Given the description of an element on the screen output the (x, y) to click on. 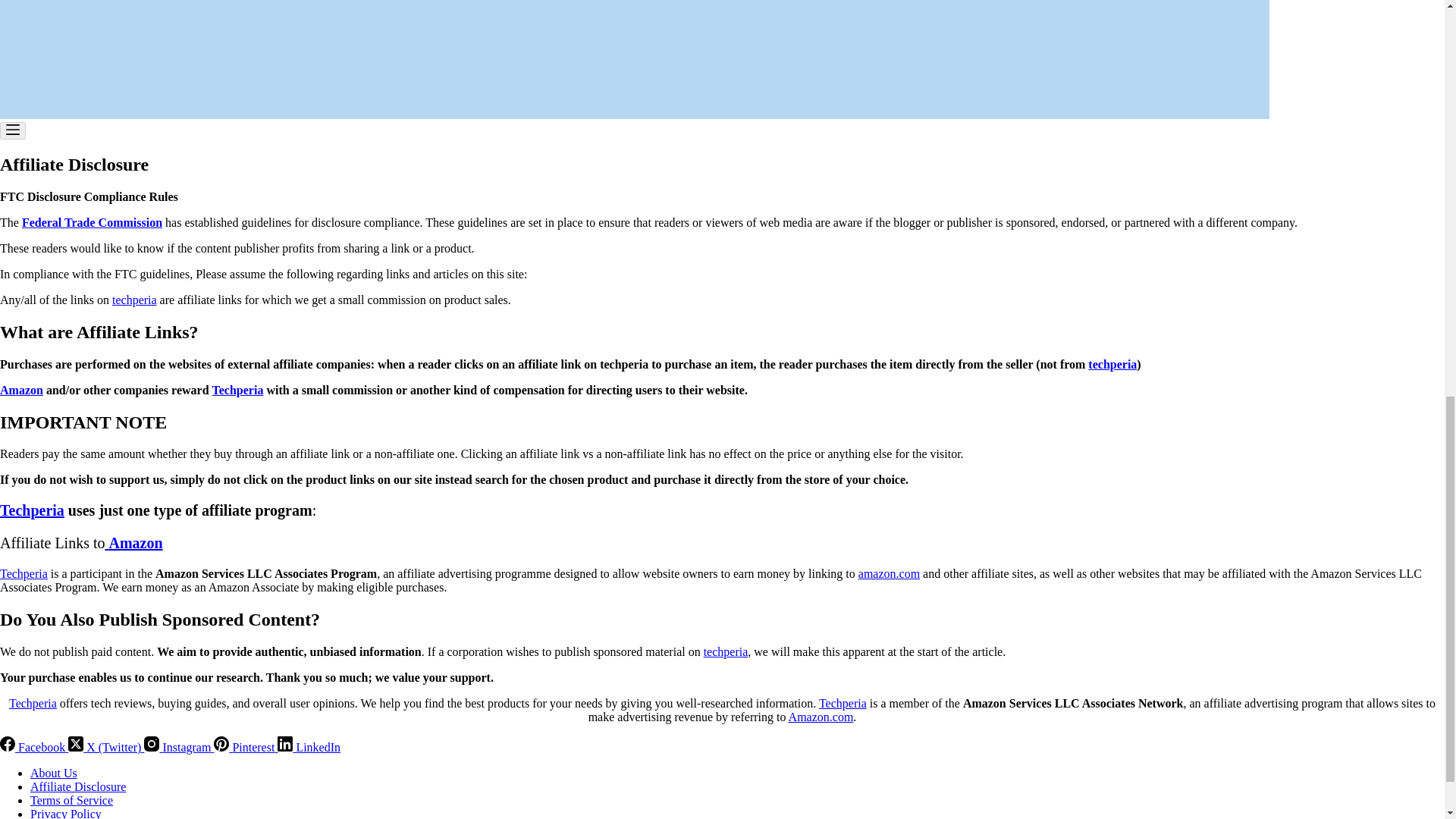
Amazon (132, 542)
Pinterest (246, 747)
techperia (725, 651)
LinkedIn (309, 747)
Techperia (237, 390)
techperia (134, 299)
Amazon (21, 390)
Amazon.com (821, 716)
techperia (1112, 364)
About Us (53, 772)
amazon.com (889, 573)
Techperia (24, 573)
Techperia (32, 703)
Instagram (179, 747)
Techperia (842, 703)
